Given the description of an element on the screen output the (x, y) to click on. 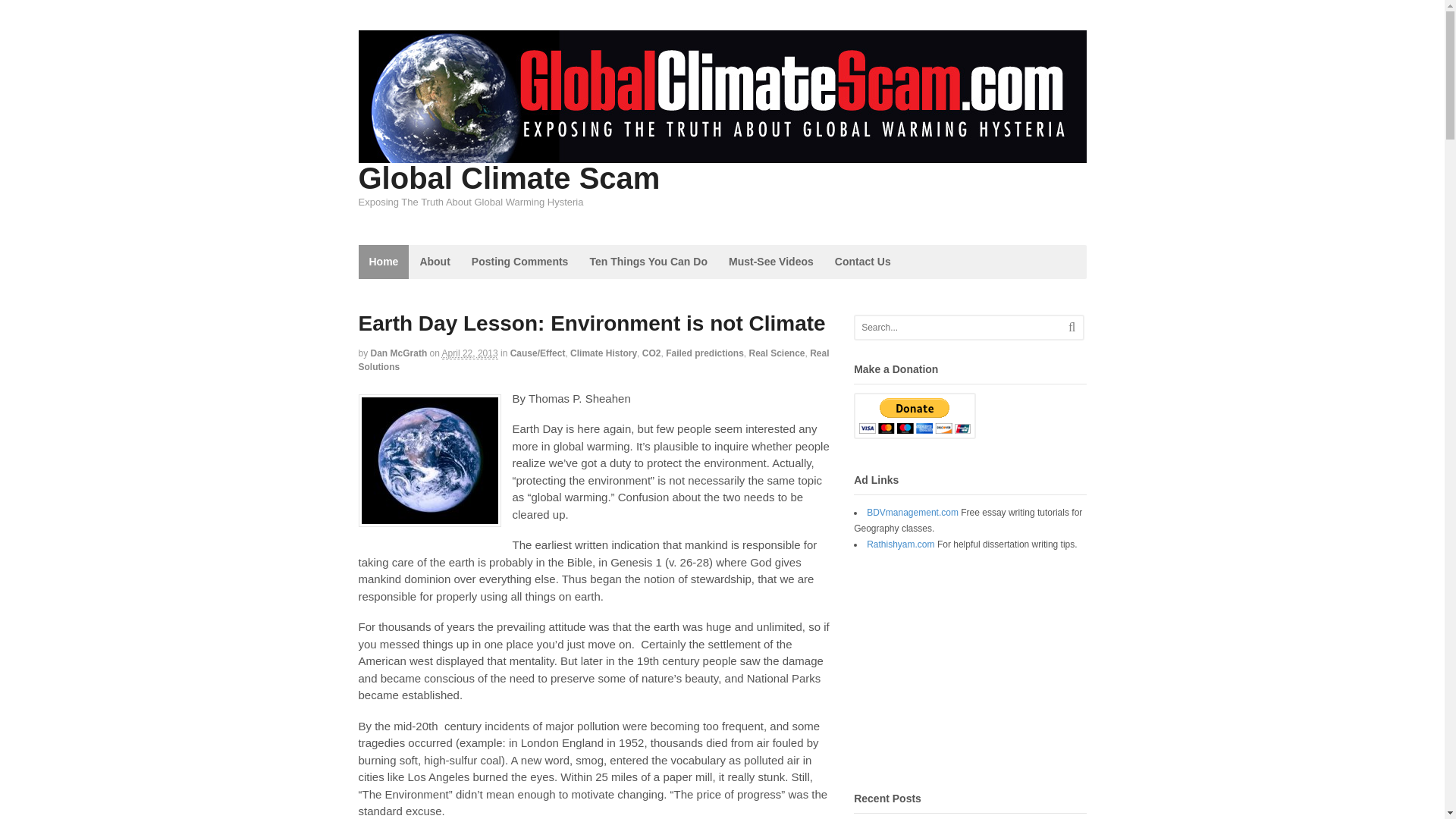
Failed predictions (704, 353)
CO2 (651, 353)
Global Climate Scam (508, 177)
Must-See Videos (770, 261)
BDVmanagement.com (912, 511)
Dan McGrath (399, 353)
Real Science (776, 353)
Rathishyam.com (900, 543)
Free essay writing tutorials for Geography classes. (912, 511)
2013-04-22T09:08:13-0500 (469, 353)
View all items in Climate History (603, 353)
About (434, 261)
Ten Things You Can Do (647, 261)
For helpful dissertation writing tips. (900, 543)
Blue-Marble-NASA-Earth (429, 460)
